Given the description of an element on the screen output the (x, y) to click on. 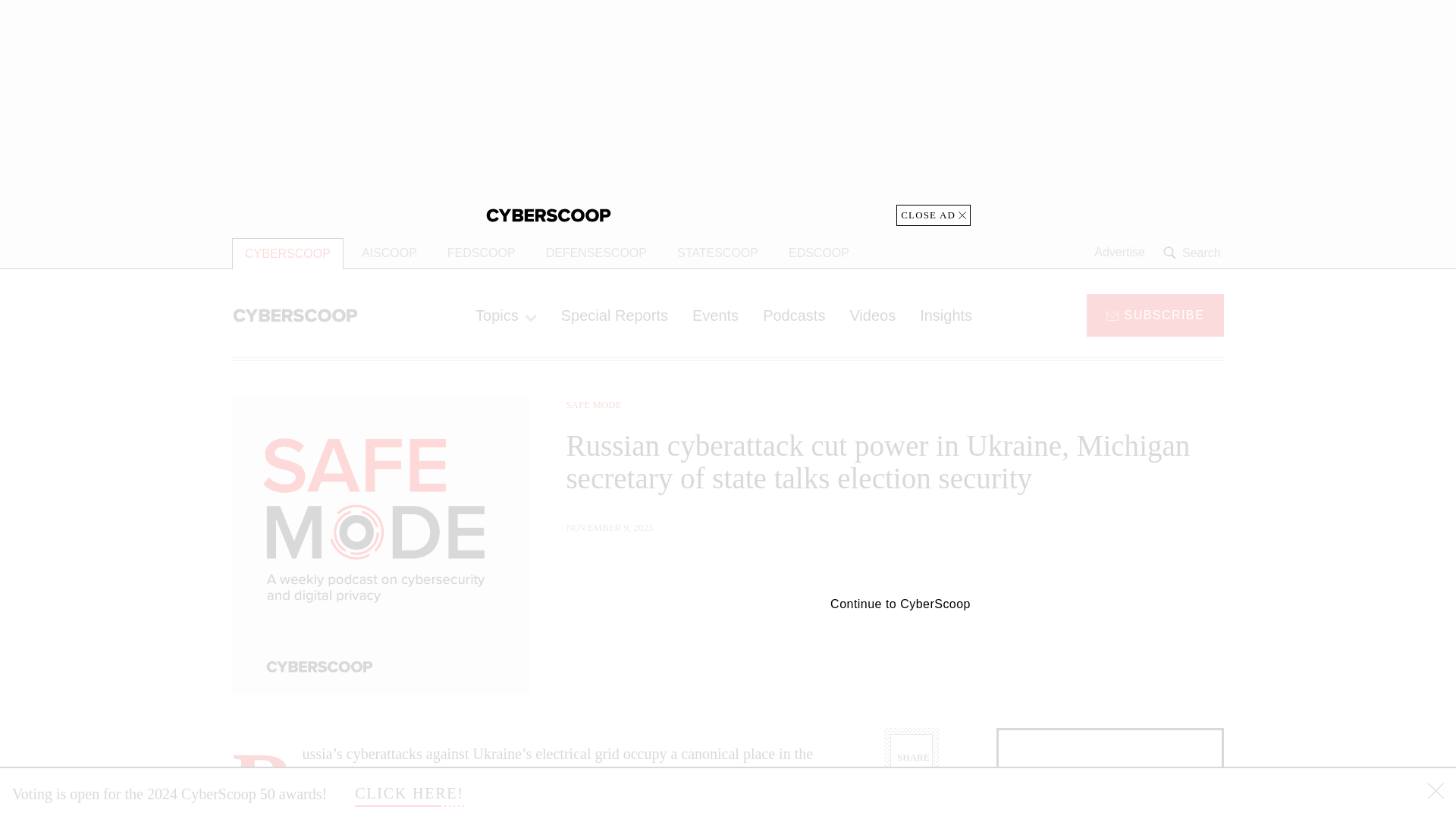
Topics (505, 315)
Insights (945, 315)
Podcasts (794, 315)
CYBERSCOOP (287, 253)
AISCOOP (389, 253)
Events (715, 315)
SUBSCRIBE (1155, 314)
STATESCOOP (717, 253)
